Given the description of an element on the screen output the (x, y) to click on. 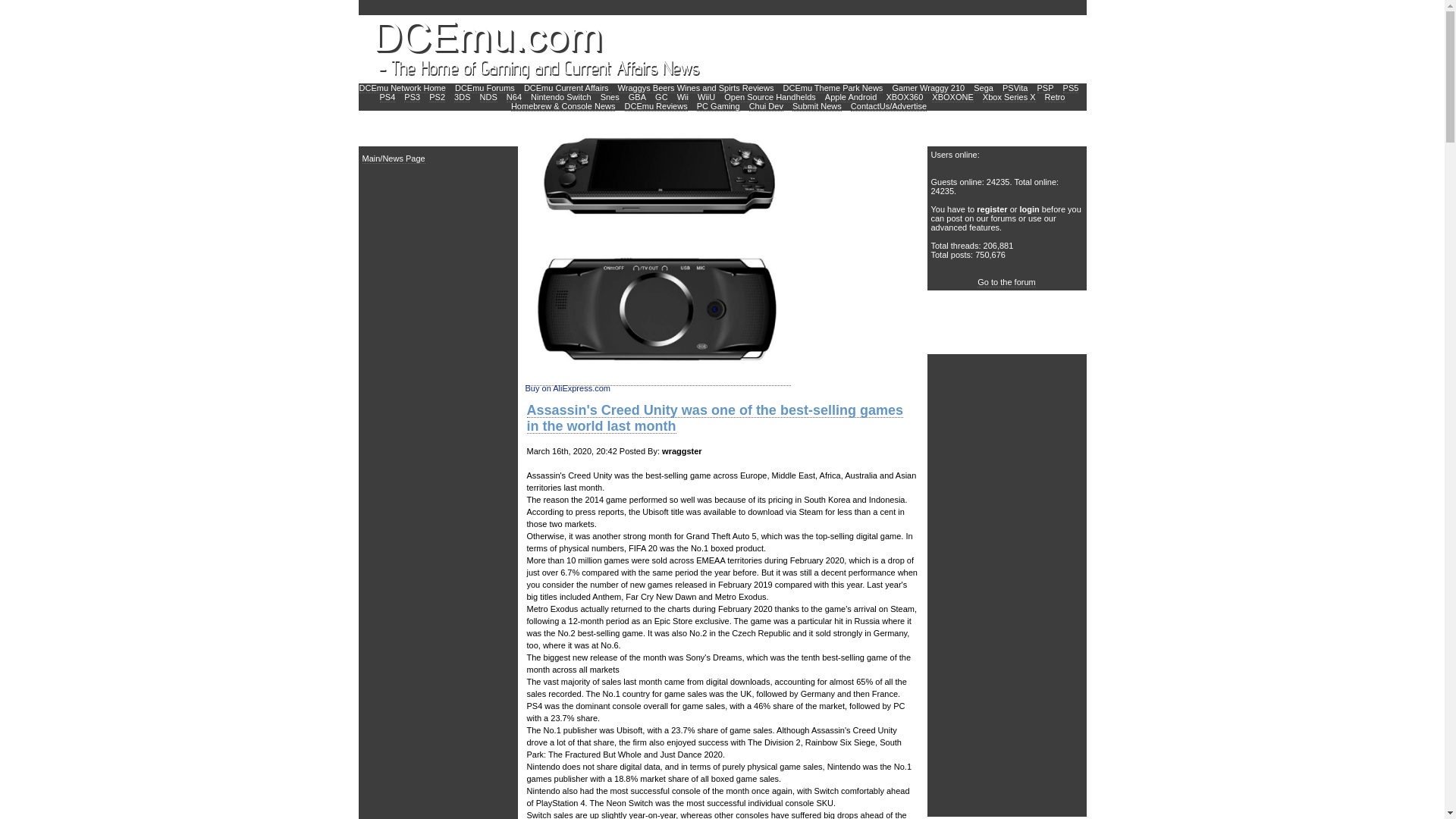
Open Source Handhelds (769, 97)
DCEmu Theme Park News (832, 88)
Submit News (816, 106)
N64 (513, 97)
Chui Dev (766, 106)
DCEmu Current Affairs (567, 88)
NDS (488, 97)
Nintendo Switch (561, 97)
DCEmu Forums (484, 88)
WiiU (705, 97)
GBA (637, 97)
Gamer Wraggy 210 (927, 88)
Apple Android (851, 97)
DCEmu Reviews (655, 106)
PSVita (1015, 88)
